Given the description of an element on the screen output the (x, y) to click on. 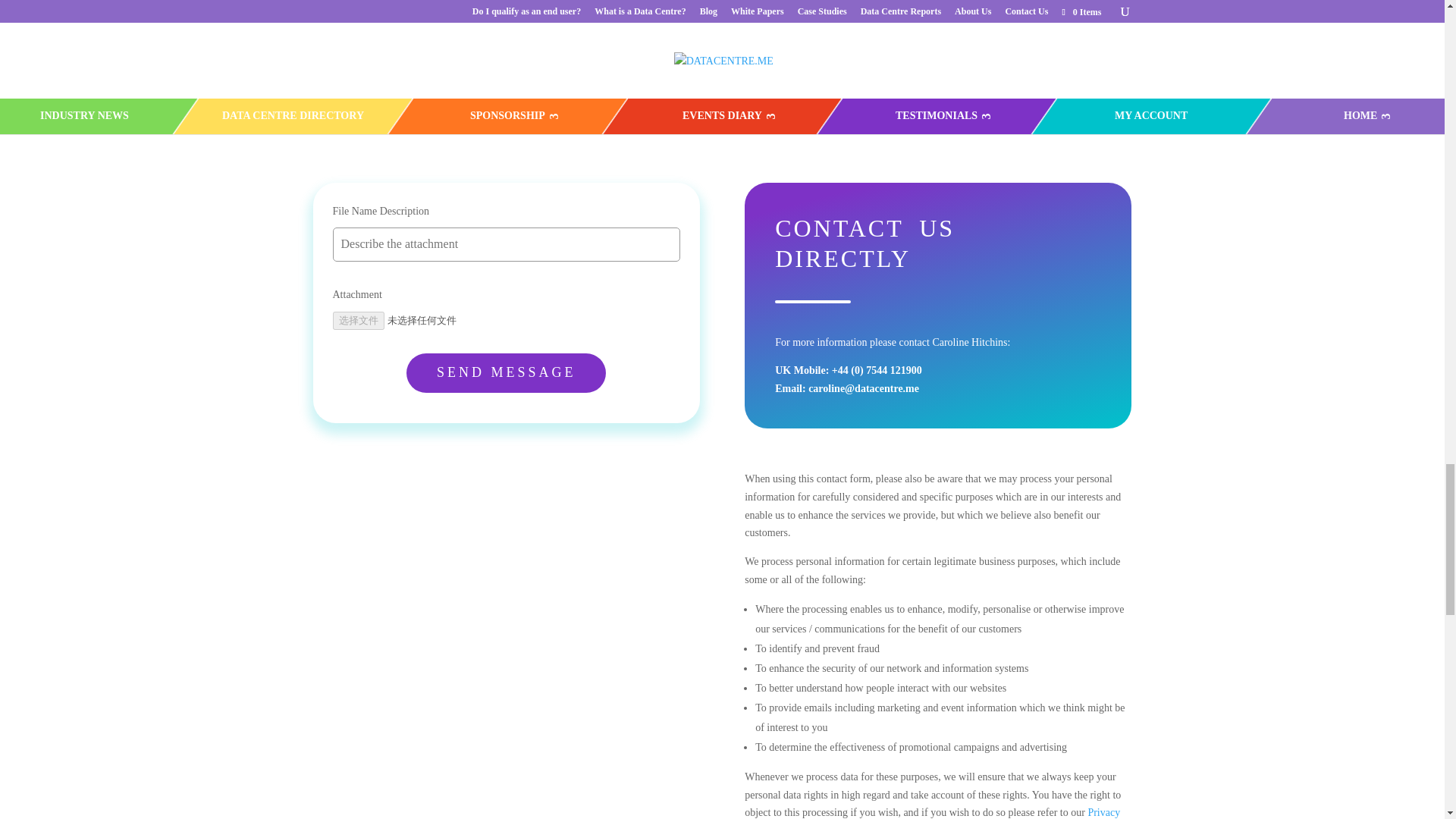
Send Message (505, 372)
Send Message (505, 372)
Privacy Policy (931, 812)
